Given the description of an element on the screen output the (x, y) to click on. 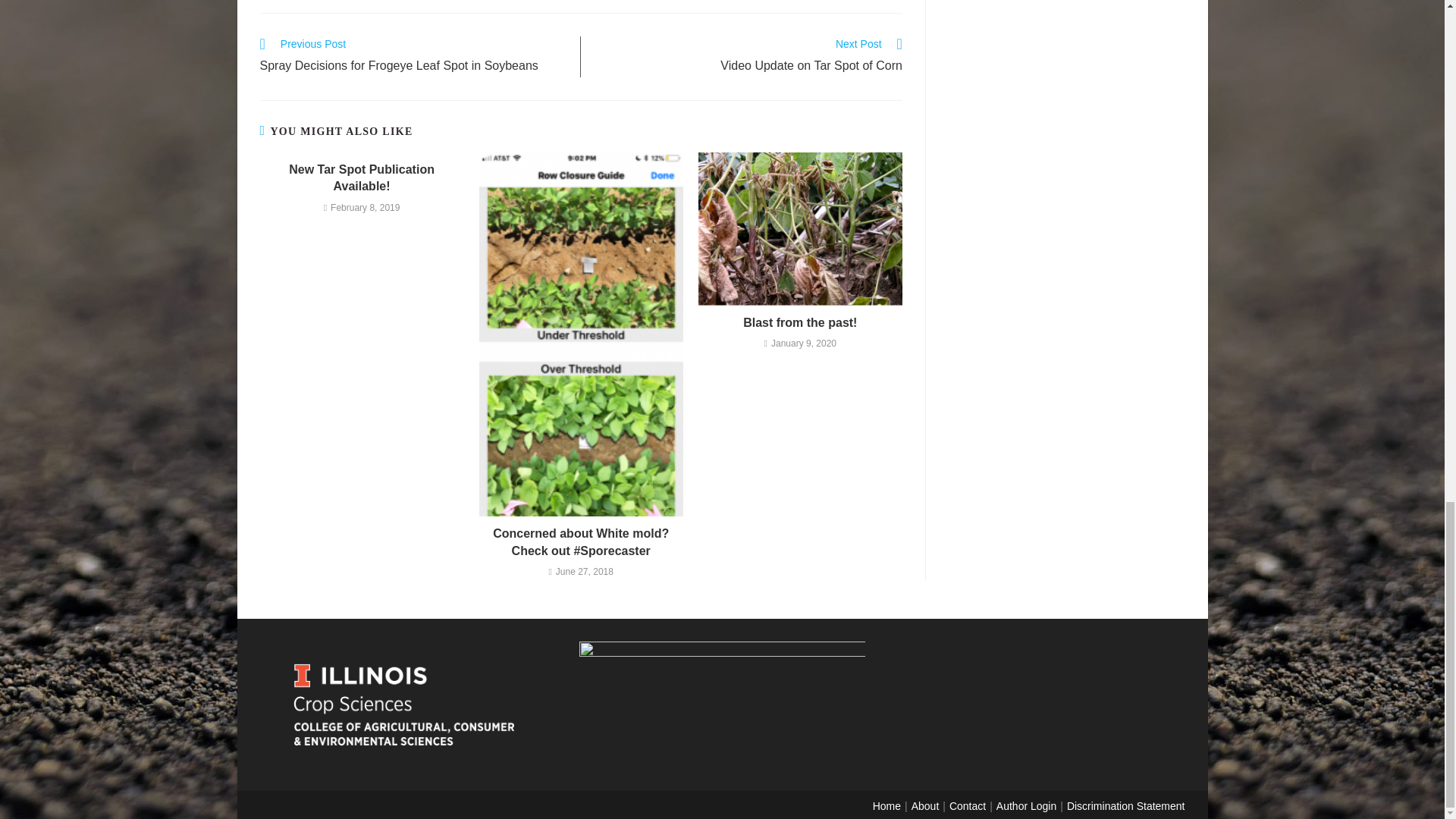
New Tar Spot Publication Available! (360, 178)
Blast from the past! (800, 322)
Blast from the past! (800, 322)
New Tar Spot Publication Available! (360, 178)
